Given the description of an element on the screen output the (x, y) to click on. 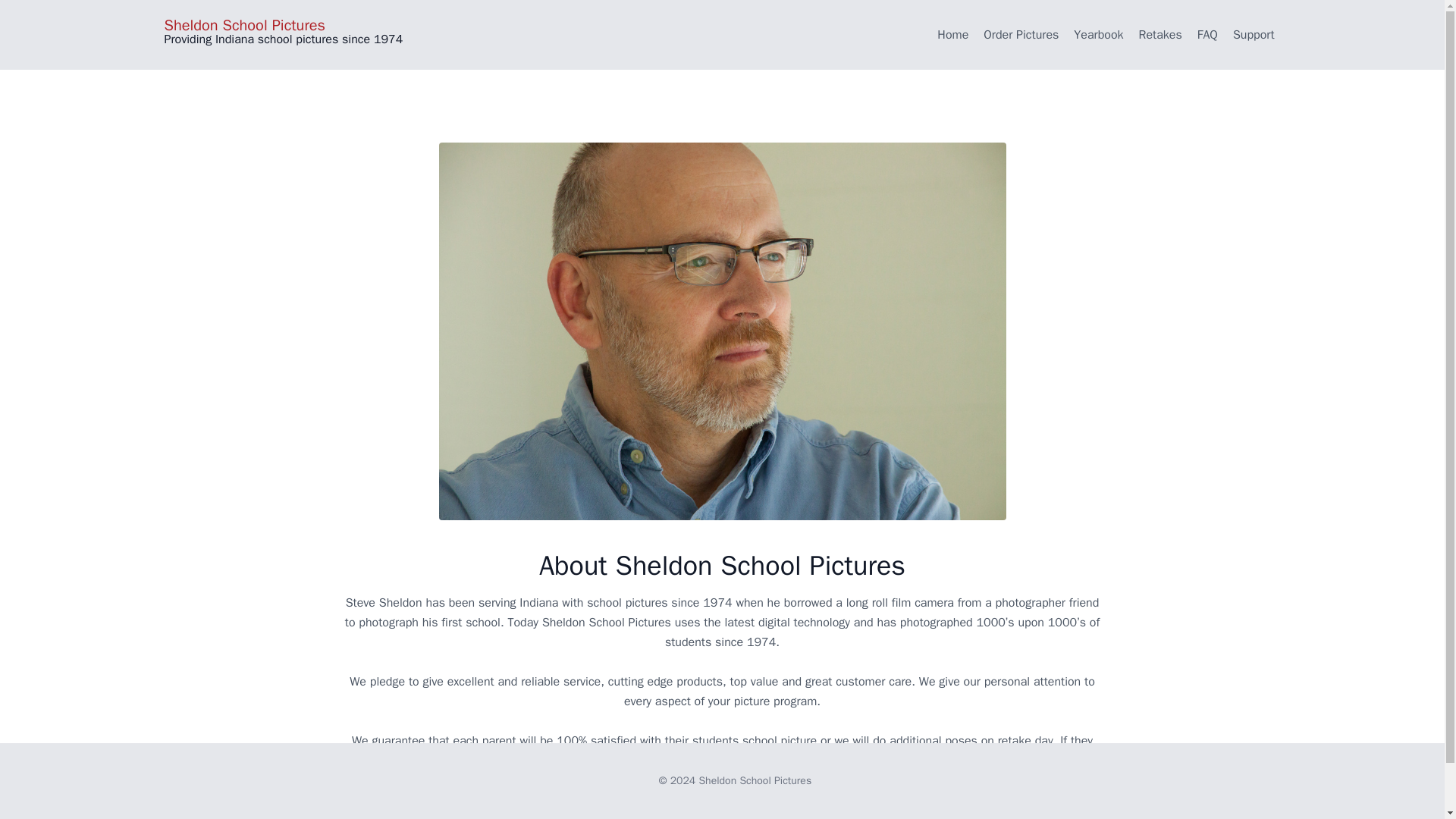
Yearbook (1098, 34)
Support (1254, 34)
FAQ (1206, 34)
Providing Indiana school pictures since 1974 (278, 39)
Home (952, 34)
Sheldon School Pictures (278, 25)
Retakes (1160, 34)
Order Pictures (1021, 34)
